Given the description of an element on the screen output the (x, y) to click on. 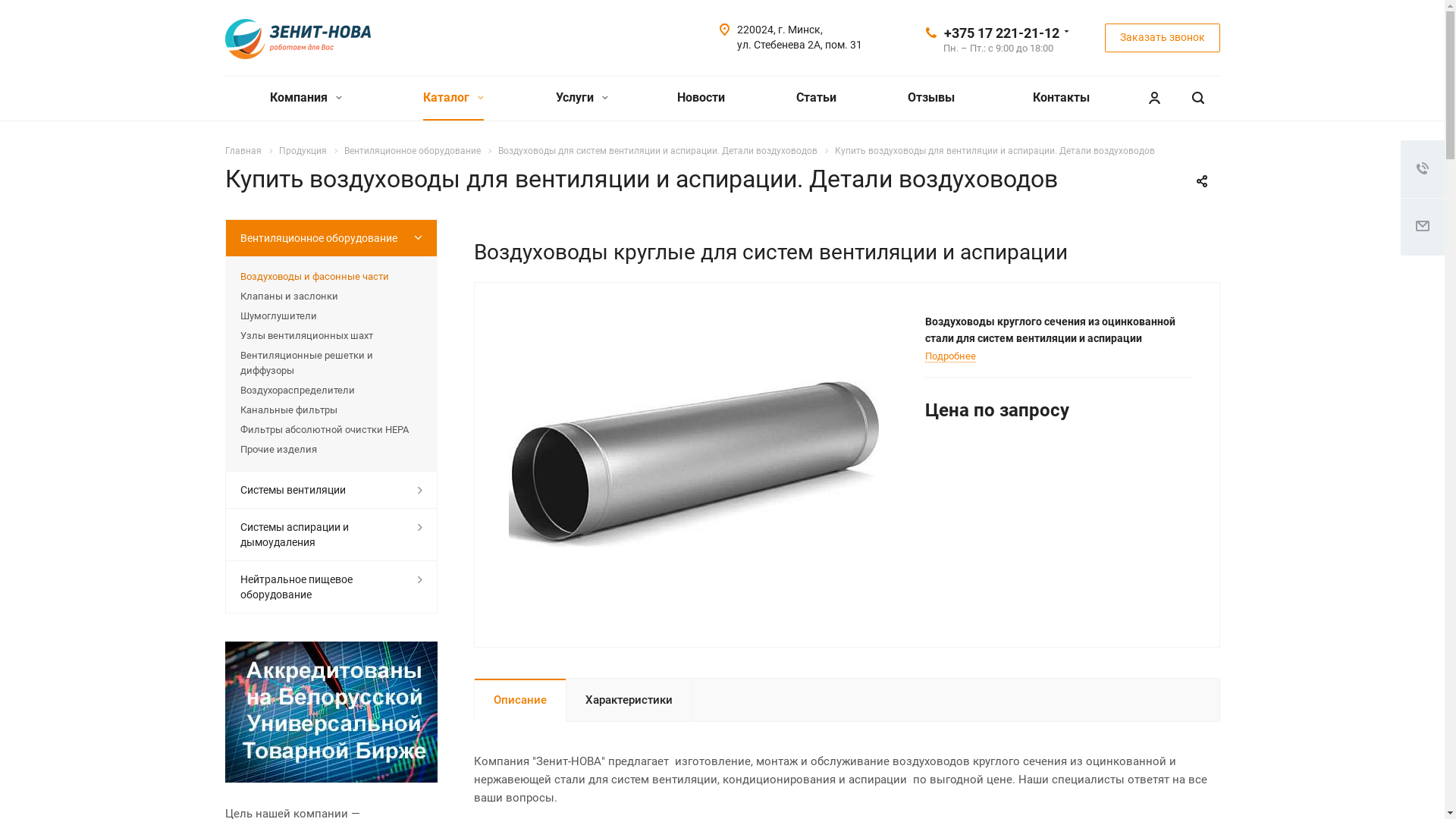
+375 17 221-21-12 Element type: text (1000, 32)
